Given the description of an element on the screen output the (x, y) to click on. 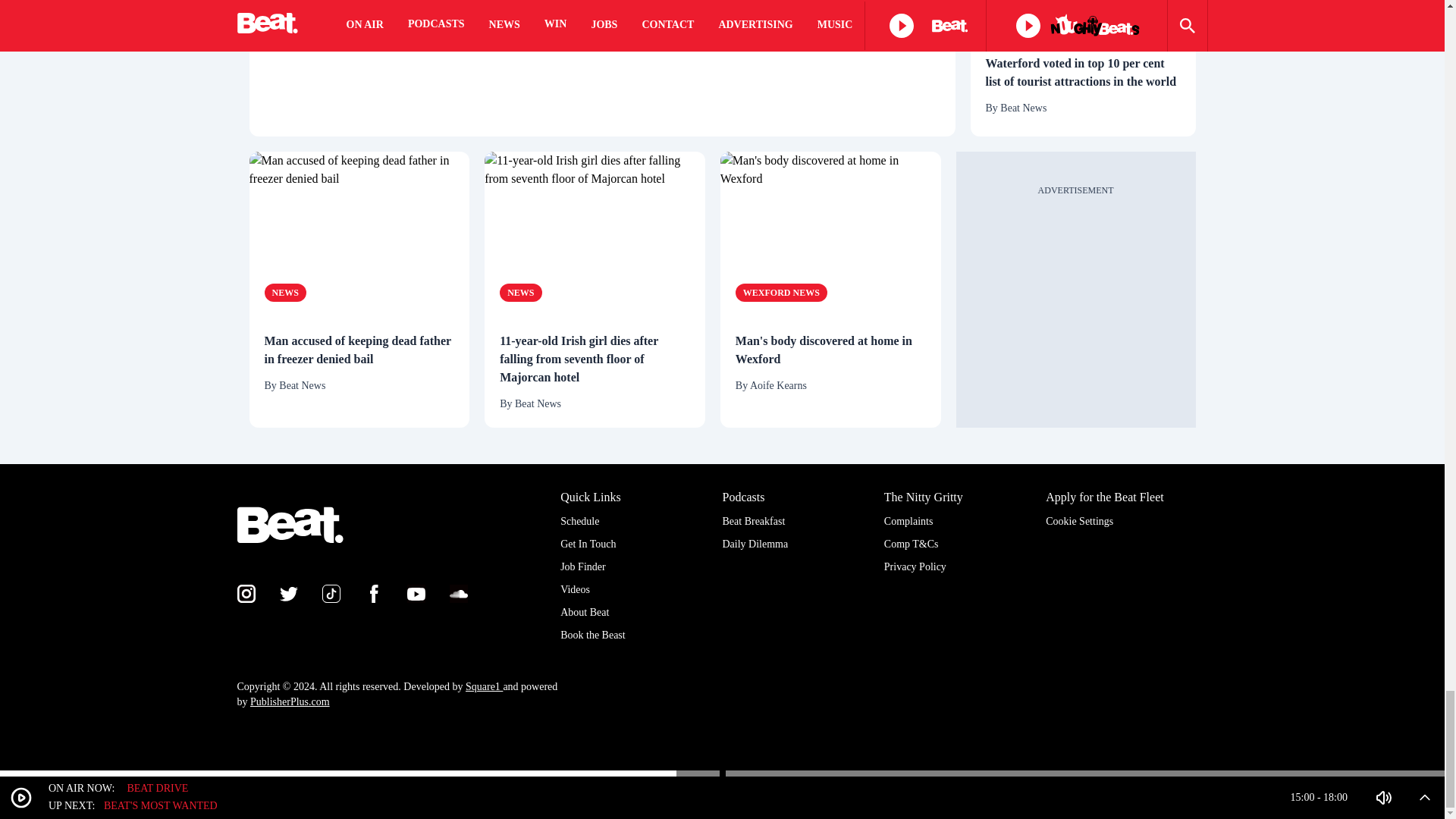
News (284, 292)
Man accused of keeping dead father in freezer denied bail (358, 350)
News (1006, 14)
